Given the description of an element on the screen output the (x, y) to click on. 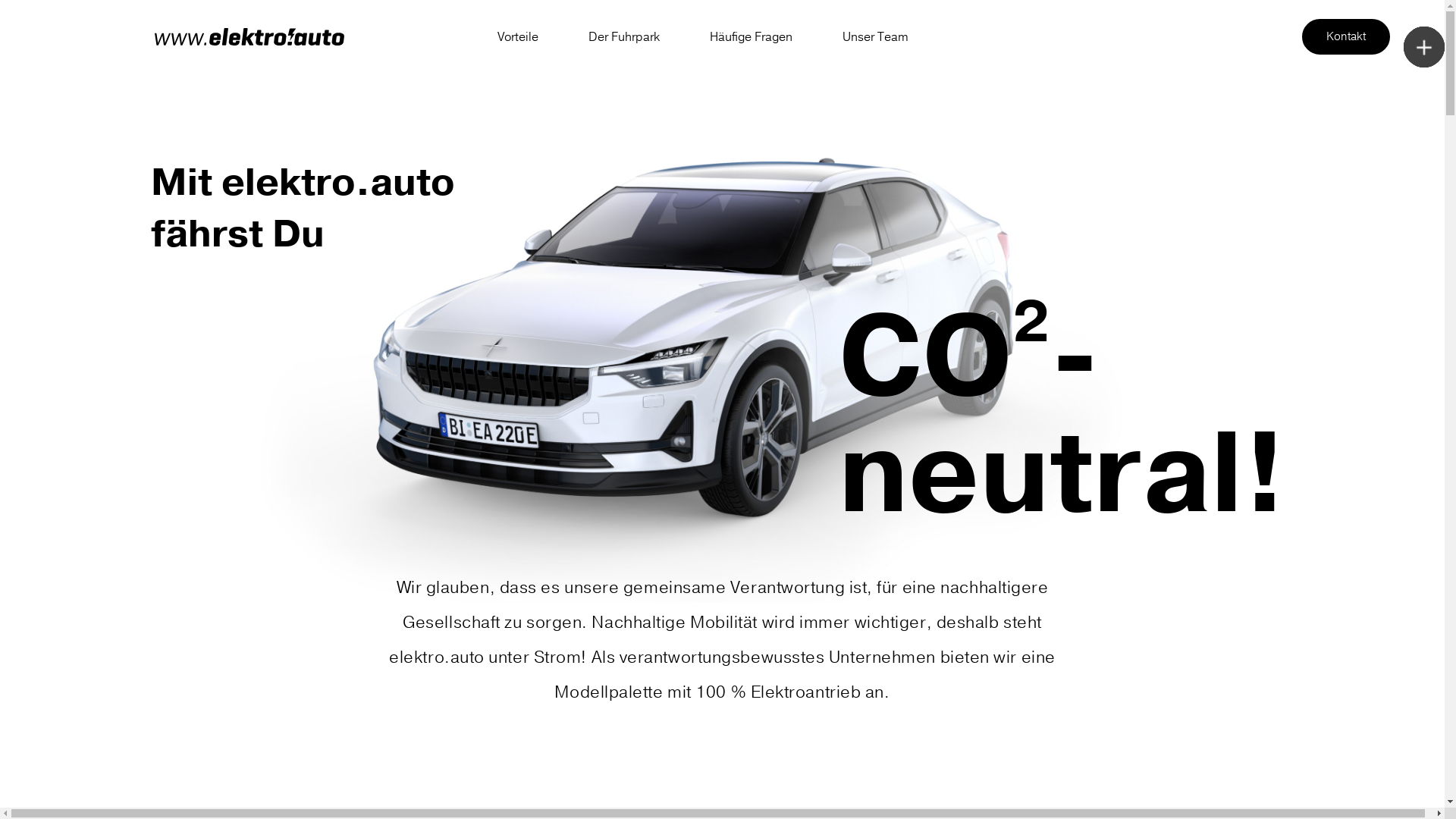
Vorteile Element type: text (517, 36)
Kontakt Element type: text (1345, 36)
Der Fuhrpark Element type: text (623, 36)
Unser Team Element type: text (874, 36)
